Given the description of an element on the screen output the (x, y) to click on. 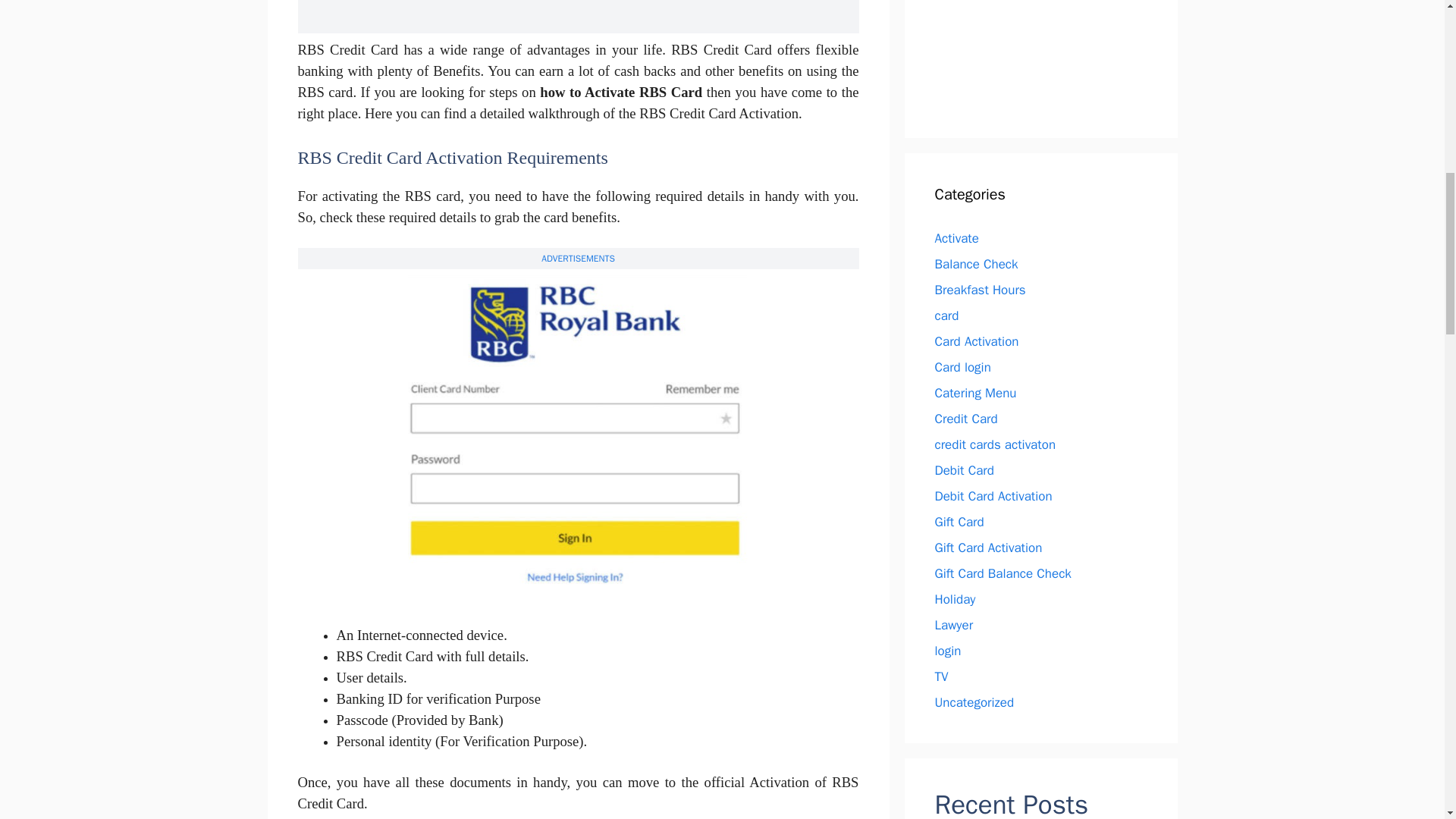
Advertisement (577, 16)
ADVERTISEMENTS (577, 258)
Advertisement (1032, 53)
